Given the description of an element on the screen output the (x, y) to click on. 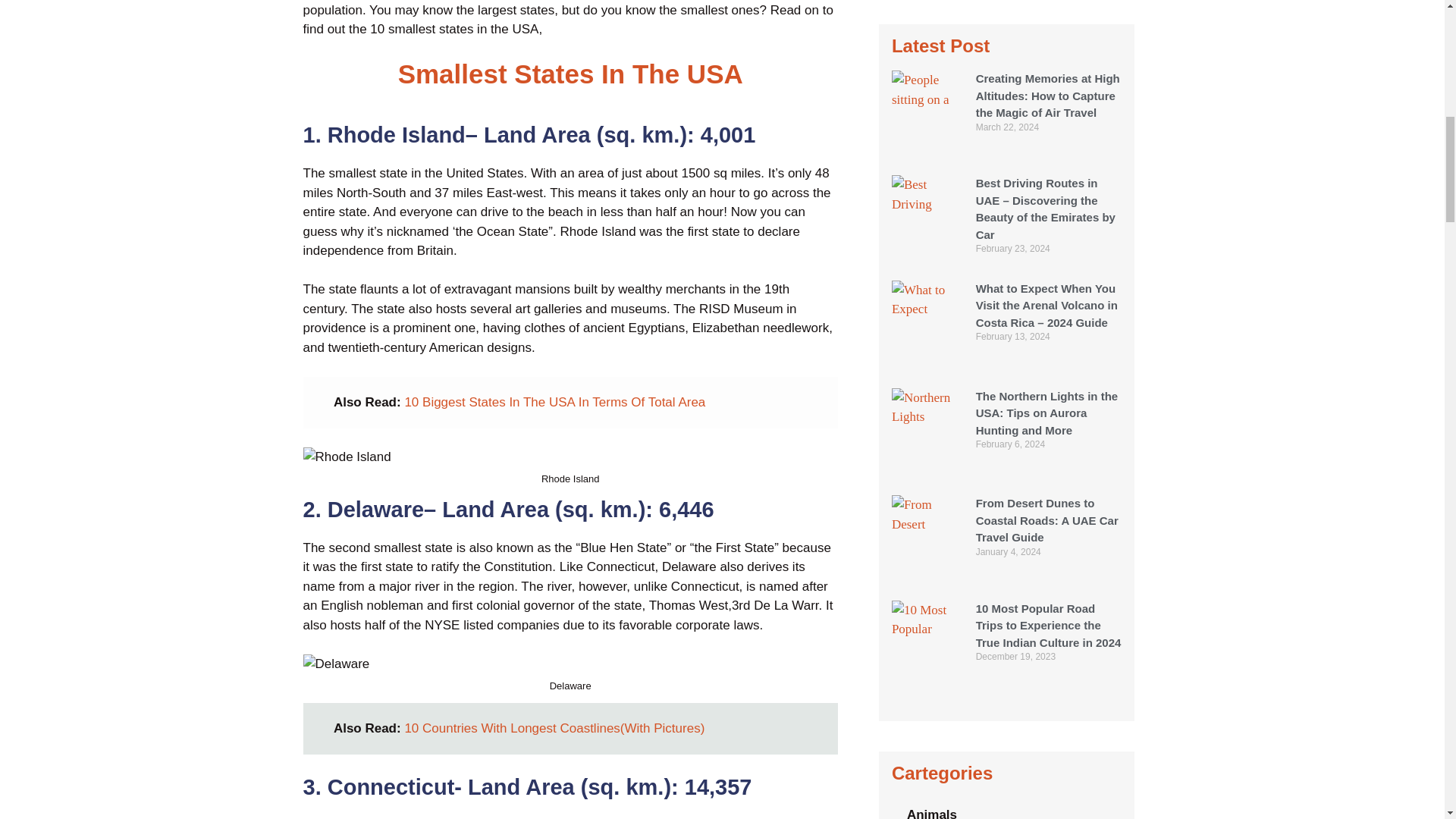
10 Biggest States In The USA In Terms Of Total Area (554, 401)
